Given the description of an element on the screen output the (x, y) to click on. 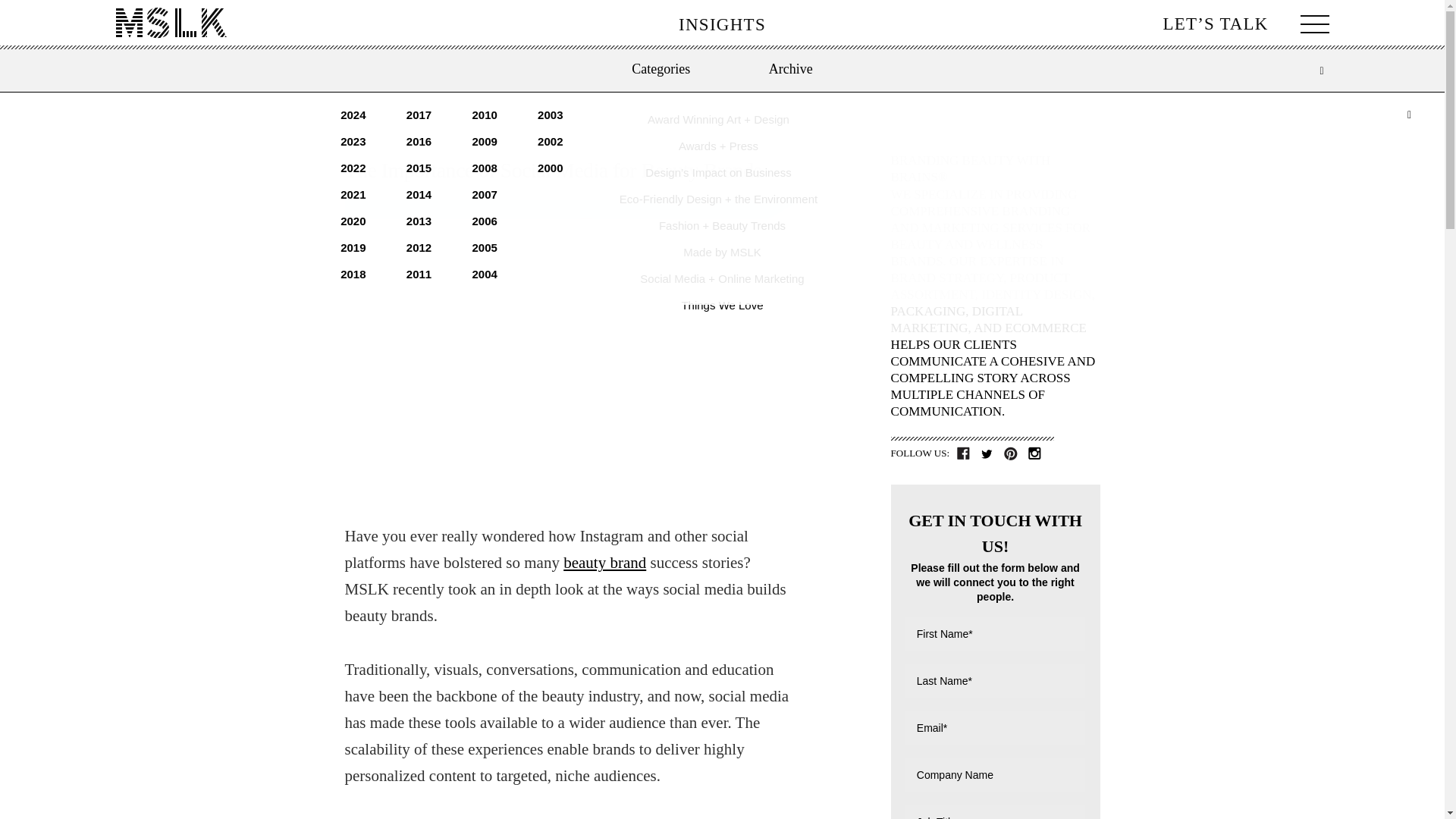
2012 (418, 246)
MSLK (170, 22)
2013 (418, 220)
2007 (483, 194)
INSIGHTS (721, 24)
social media and online marketing (721, 278)
2010 (483, 114)
2024 (352, 114)
2011 (418, 273)
